Given the description of an element on the screen output the (x, y) to click on. 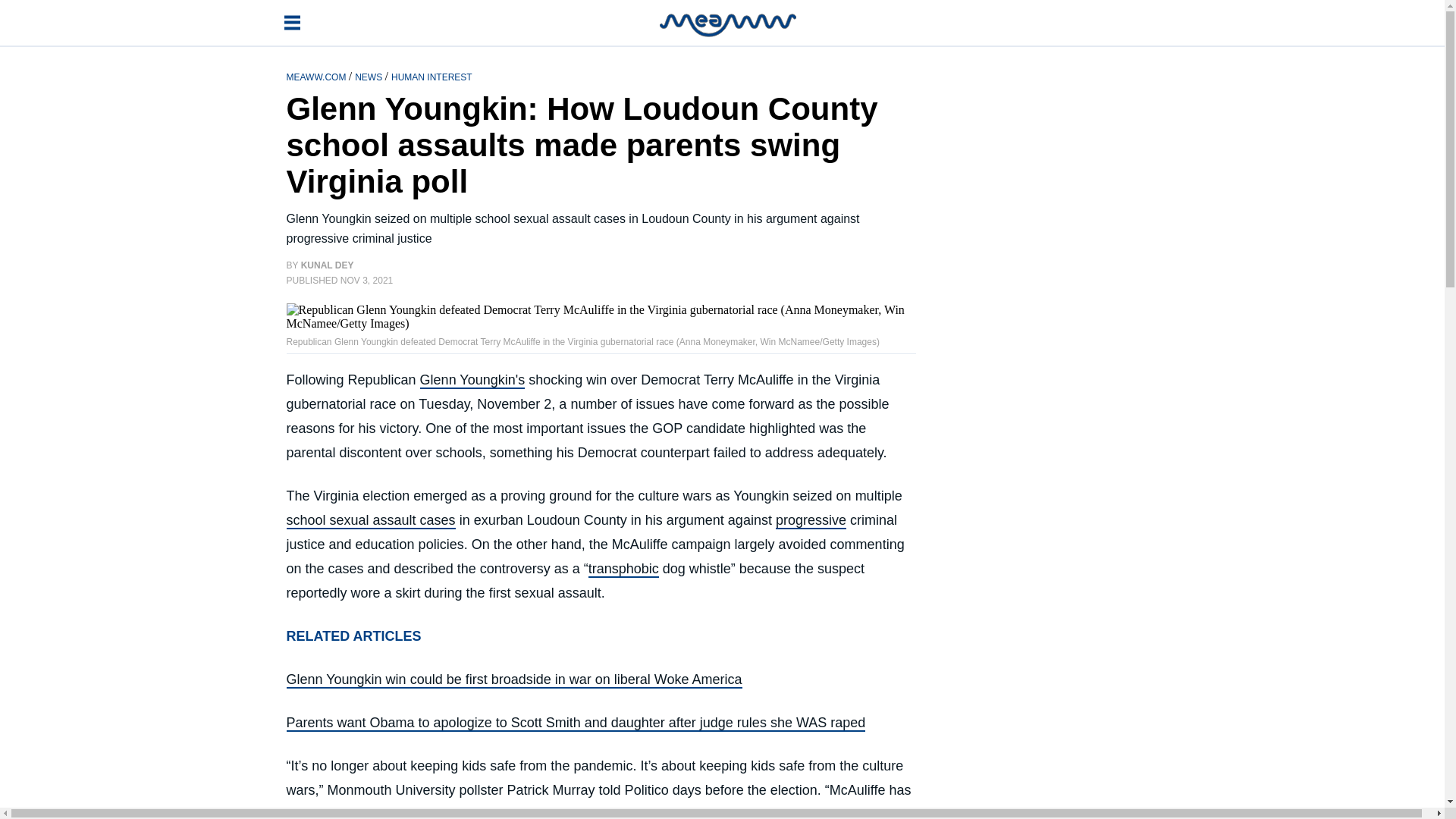
NEWS (369, 75)
transphobic (623, 569)
KUNAL DEY (327, 265)
school sexual assault cases (370, 520)
progressive (810, 520)
MEAWW.COM (317, 75)
HUMAN INTEREST (431, 75)
Glenn Youngkin's (472, 380)
